Given the description of an element on the screen output the (x, y) to click on. 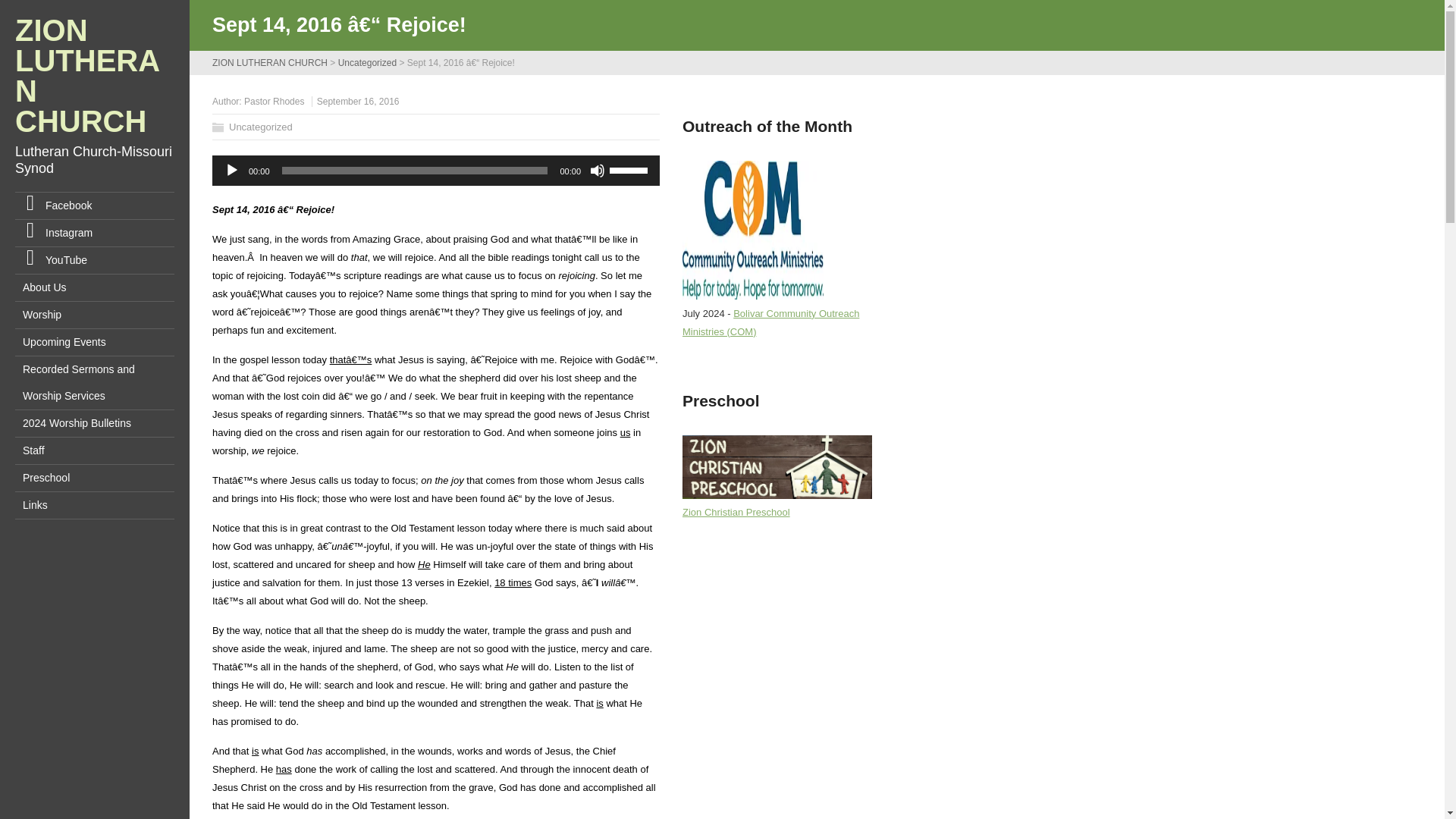
Links (94, 505)
Uncategorized (260, 126)
Facebook (94, 205)
Worship (94, 315)
Instagram (94, 233)
YouTube (94, 260)
Preschool (94, 478)
Upcoming Events (94, 342)
Pastor Rhodes (274, 101)
2024 Worship Bulletins (94, 423)
